Given the description of an element on the screen output the (x, y) to click on. 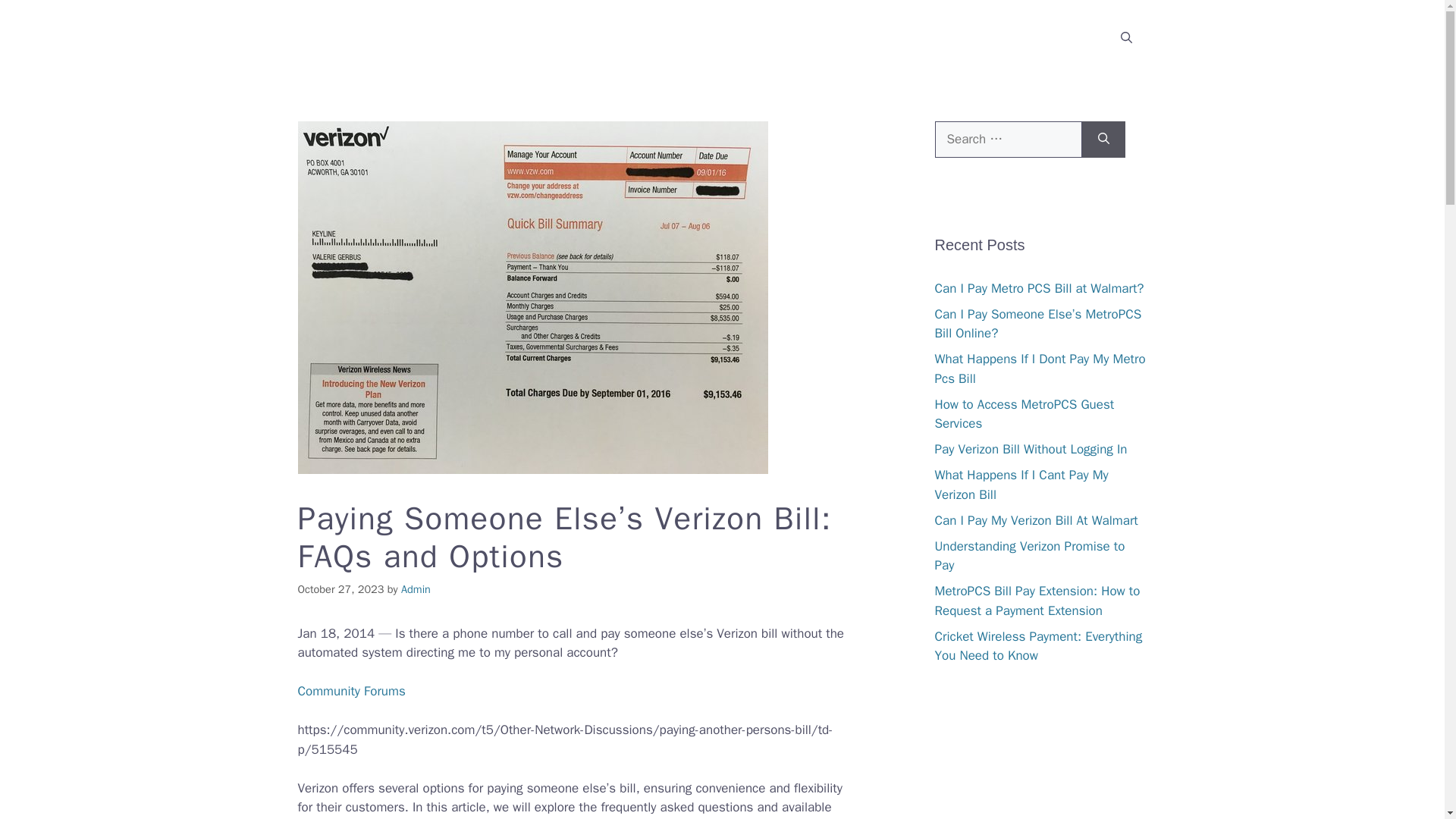
Search for: (1007, 139)
Can I Pay My Verizon Bill At Walmart (1035, 520)
What Happens If I Dont Pay My Metro Pcs Bill (1039, 368)
Cricket Wireless Payment: Everything You Need to Know (1037, 645)
BillManual (344, 37)
What Happens If I Cant Pay My Verizon Bill (1021, 484)
How to Access MetroPCS Guest Services (1023, 413)
Can I Pay Metro PCS Bill at Walmart? (1038, 288)
Understanding Verizon Promise to Pay (1029, 556)
